Given the description of an element on the screen output the (x, y) to click on. 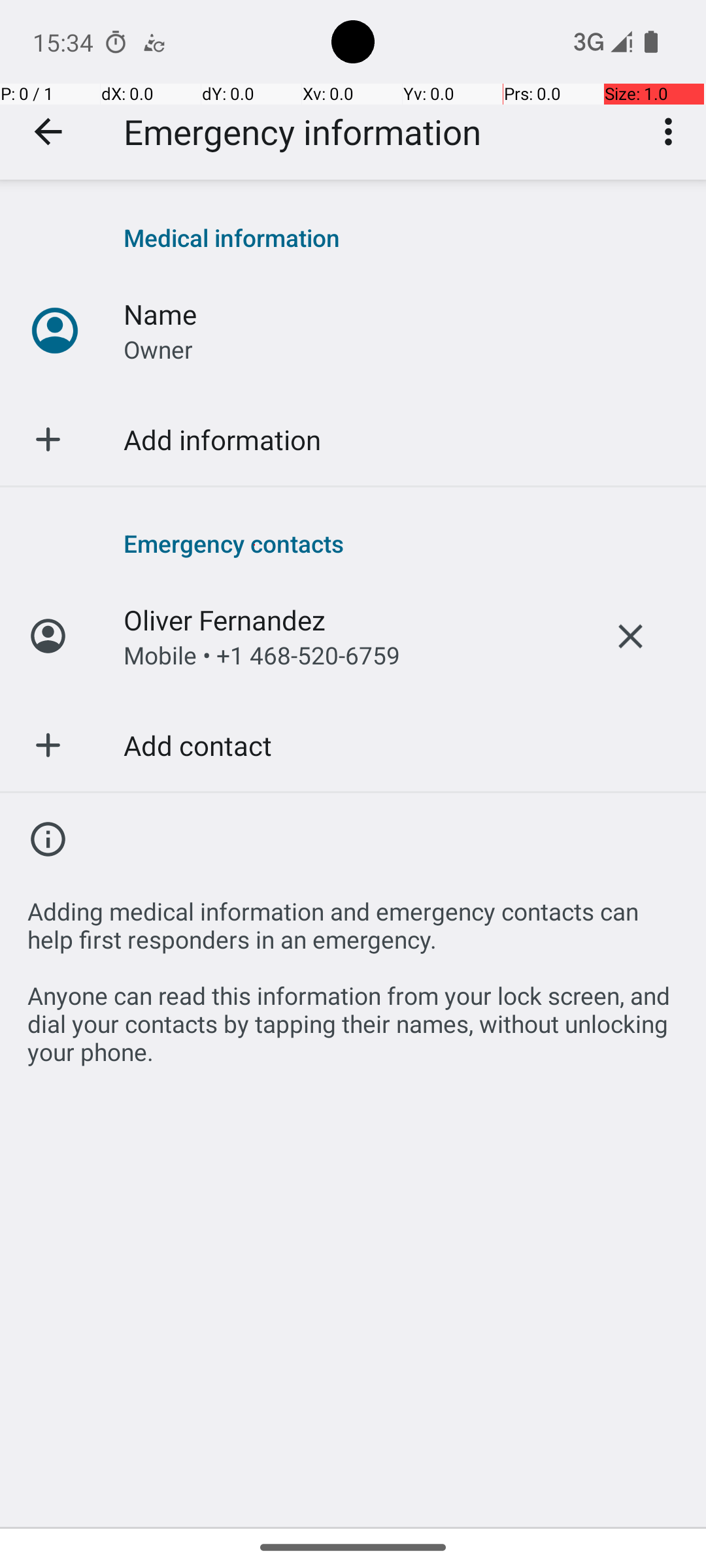
Emergency information Element type: android.widget.TextView (302, 131)
Medical information Element type: android.widget.TextView (400, 237)
Add information Element type: android.widget.TextView (221, 438)
Emergency contacts Element type: android.widget.TextView (400, 542)
Oliver Fernandez Element type: android.widget.TextView (224, 619)
Mobile • +1 468-520-6759 Element type: android.widget.TextView (261, 654)
Remove contact Element type: android.widget.ImageView (630, 636)
Add contact Element type: android.widget.TextView (197, 744)
Adding medical information and emergency contacts can help first responders in an emergency.

Anyone can read this information from your lock screen, and dial your contacts by tapping their names, without unlocking your phone. Element type: android.widget.TextView (352, 973)
